Given the description of an element on the screen output the (x, y) to click on. 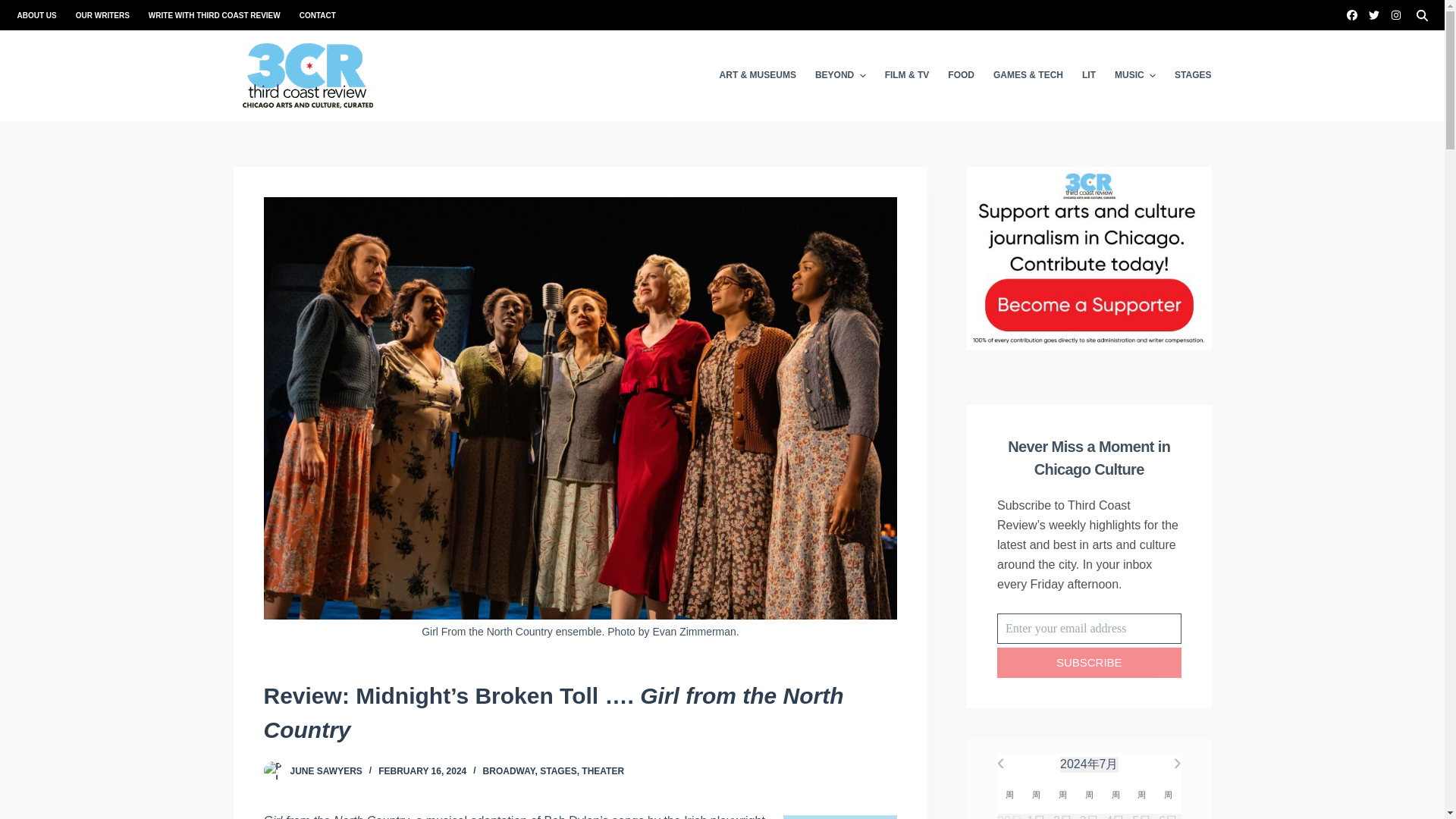
OUR WRITERS (101, 15)
MUSIC (1134, 75)
WRITE WITH THIRD COAST REVIEW (213, 15)
BEYOND (840, 75)
ABOUT US (40, 15)
LIT (1088, 75)
FOOD (961, 75)
CONTACT (312, 15)
STAGES (1188, 75)
